Given the description of an element on the screen output the (x, y) to click on. 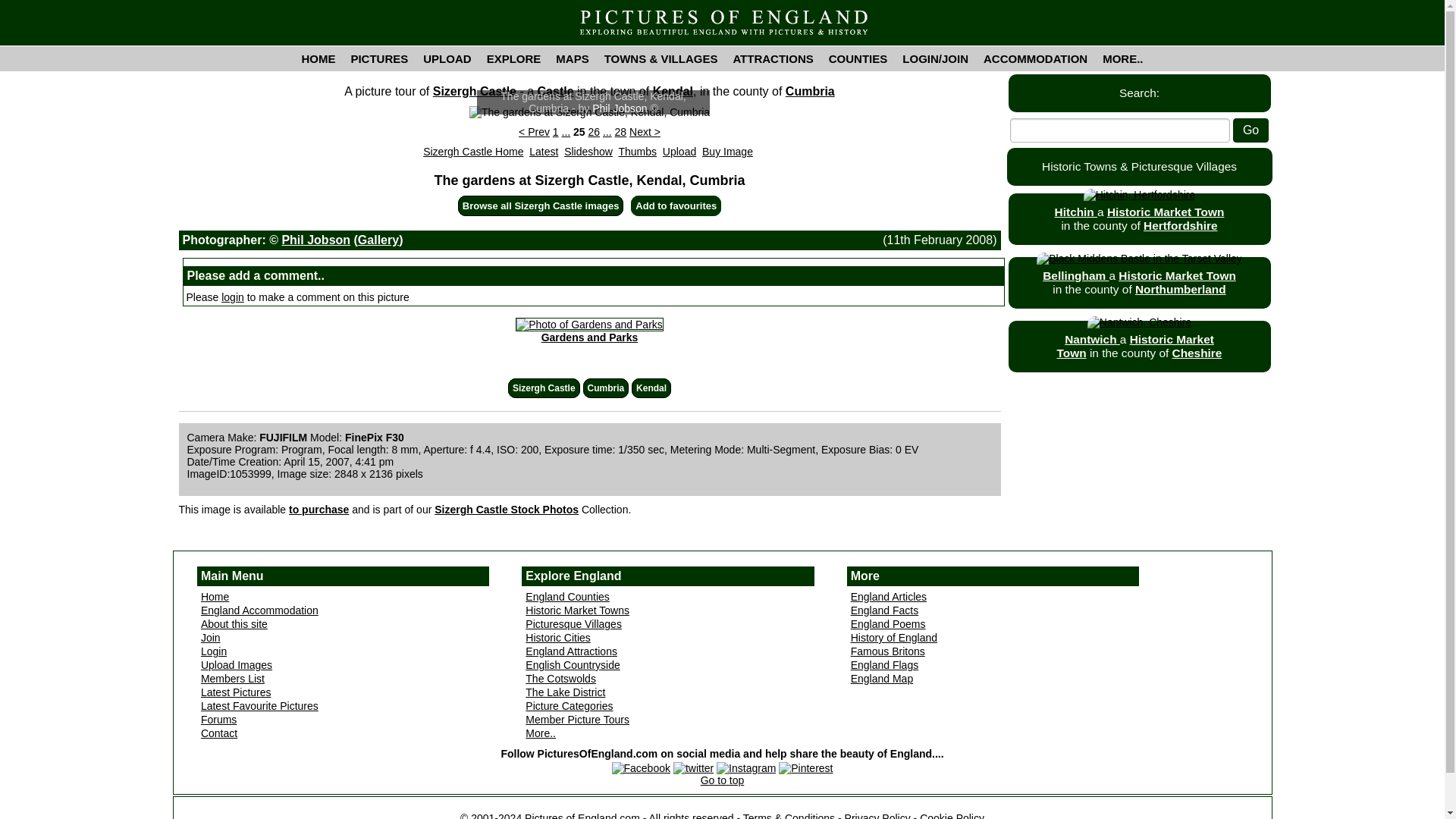
Go (1250, 129)
Hertfordshire (1179, 225)
MAPS (571, 58)
Gardens and Parks (589, 330)
COUNTIES (858, 58)
PICTURES (378, 58)
Go (1250, 129)
EXPLORE (513, 58)
UPLOAD (446, 58)
Go (1250, 129)
